Given the description of an element on the screen output the (x, y) to click on. 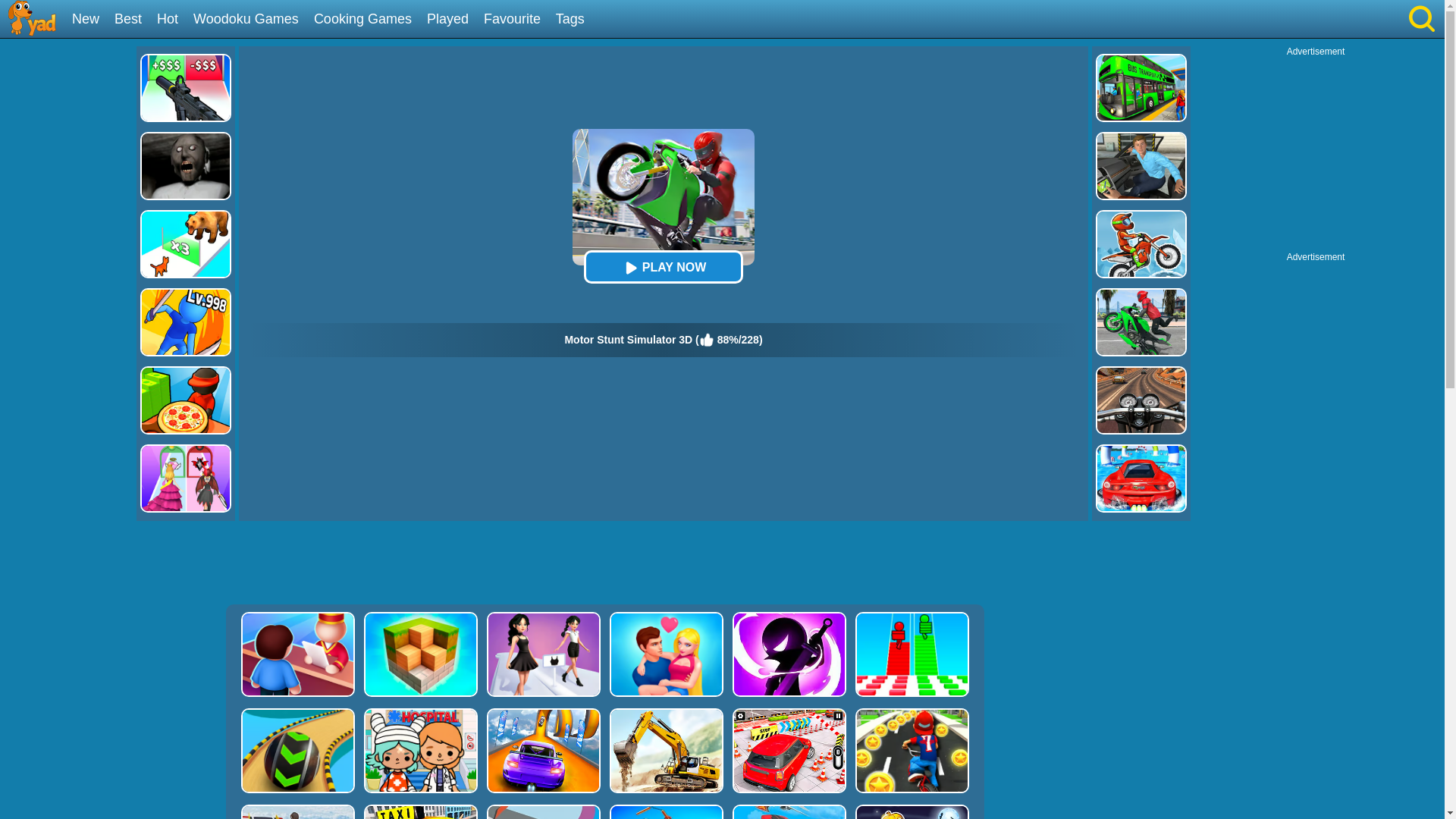
Advertisement (603, 562)
Played (453, 20)
Best (133, 20)
Cooking Games (368, 20)
Woodoku Games (251, 20)
PLAY NOW (662, 266)
Tags (575, 20)
Advertisement (1315, 152)
Favourite (517, 20)
